Given the description of an element on the screen output the (x, y) to click on. 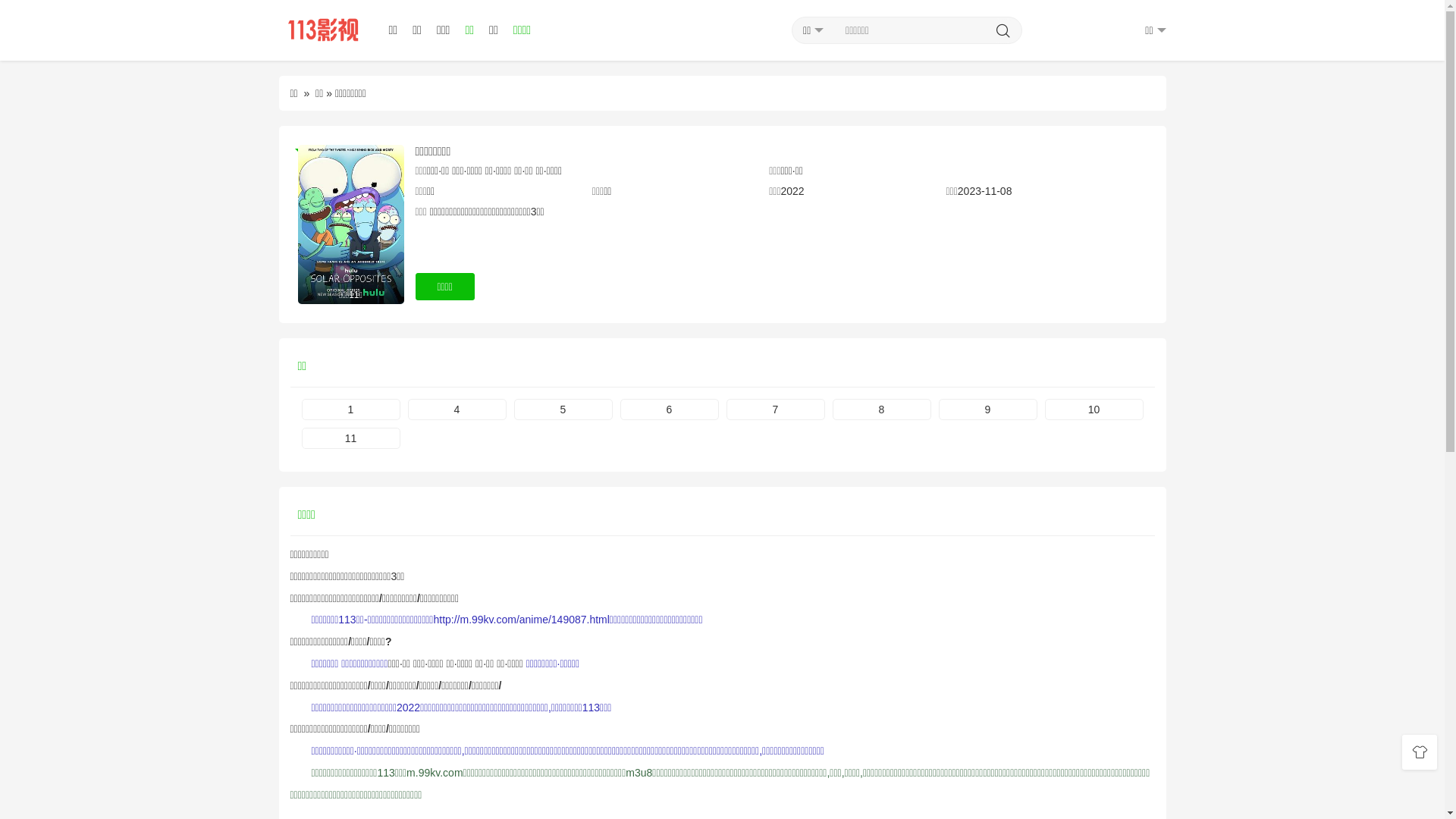
5 Element type: text (563, 409)
11 Element type: text (350, 437)
10 Element type: text (1093, 409)
9 Element type: text (987, 409)
4 Element type: text (456, 409)
8 Element type: text (881, 409)
7 Element type: text (775, 409)
6 Element type: text (669, 409)
1 Element type: text (350, 409)
